Given the description of an element on the screen output the (x, y) to click on. 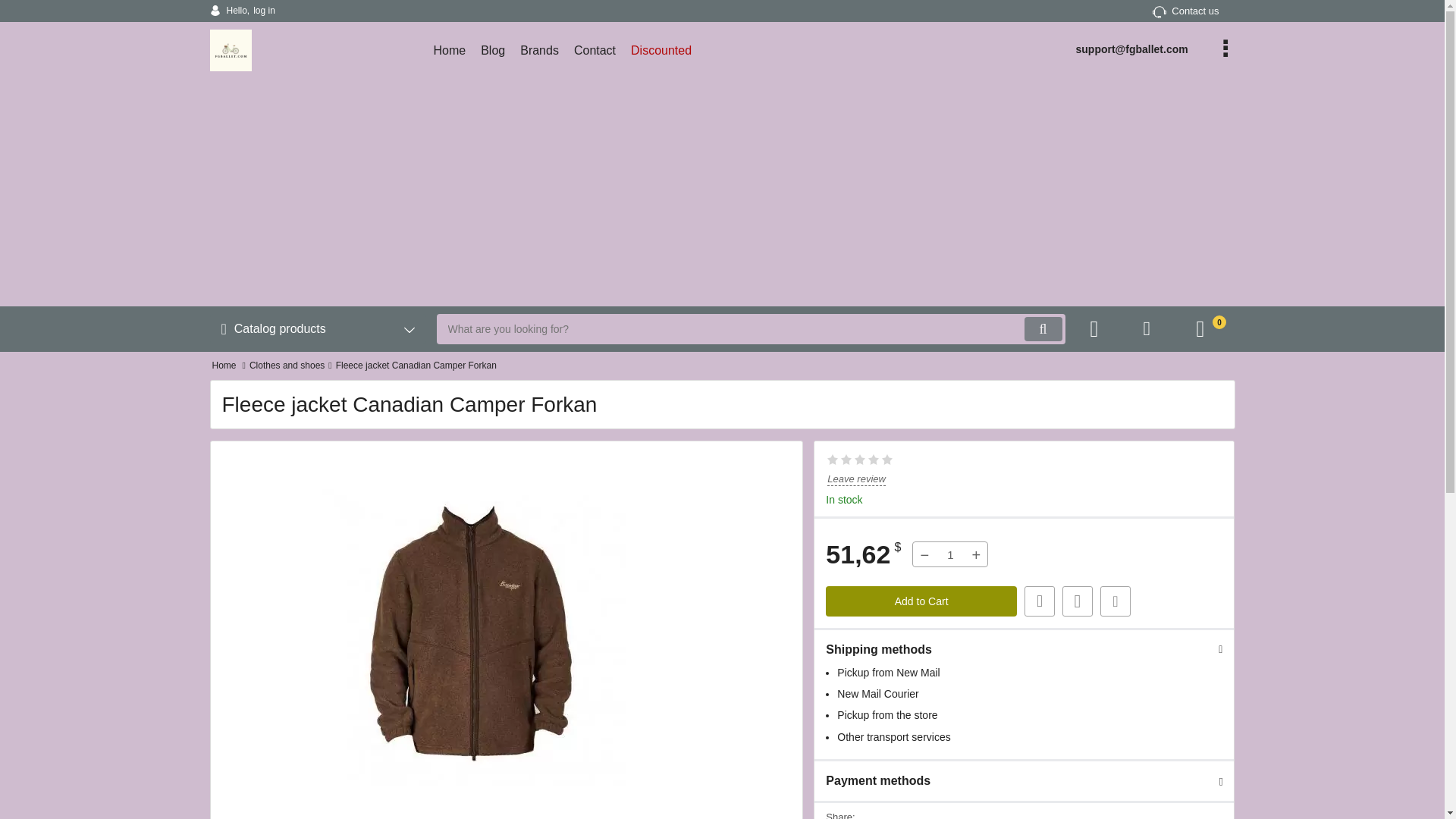
Add to Cart (920, 601)
Contact (594, 50)
Brands (539, 50)
FAST ORDER (1039, 601)
Contact us (242, 10)
Home (1185, 10)
Home (223, 365)
Fast Order (223, 365)
Compare (1039, 601)
